Given the description of an element on the screen output the (x, y) to click on. 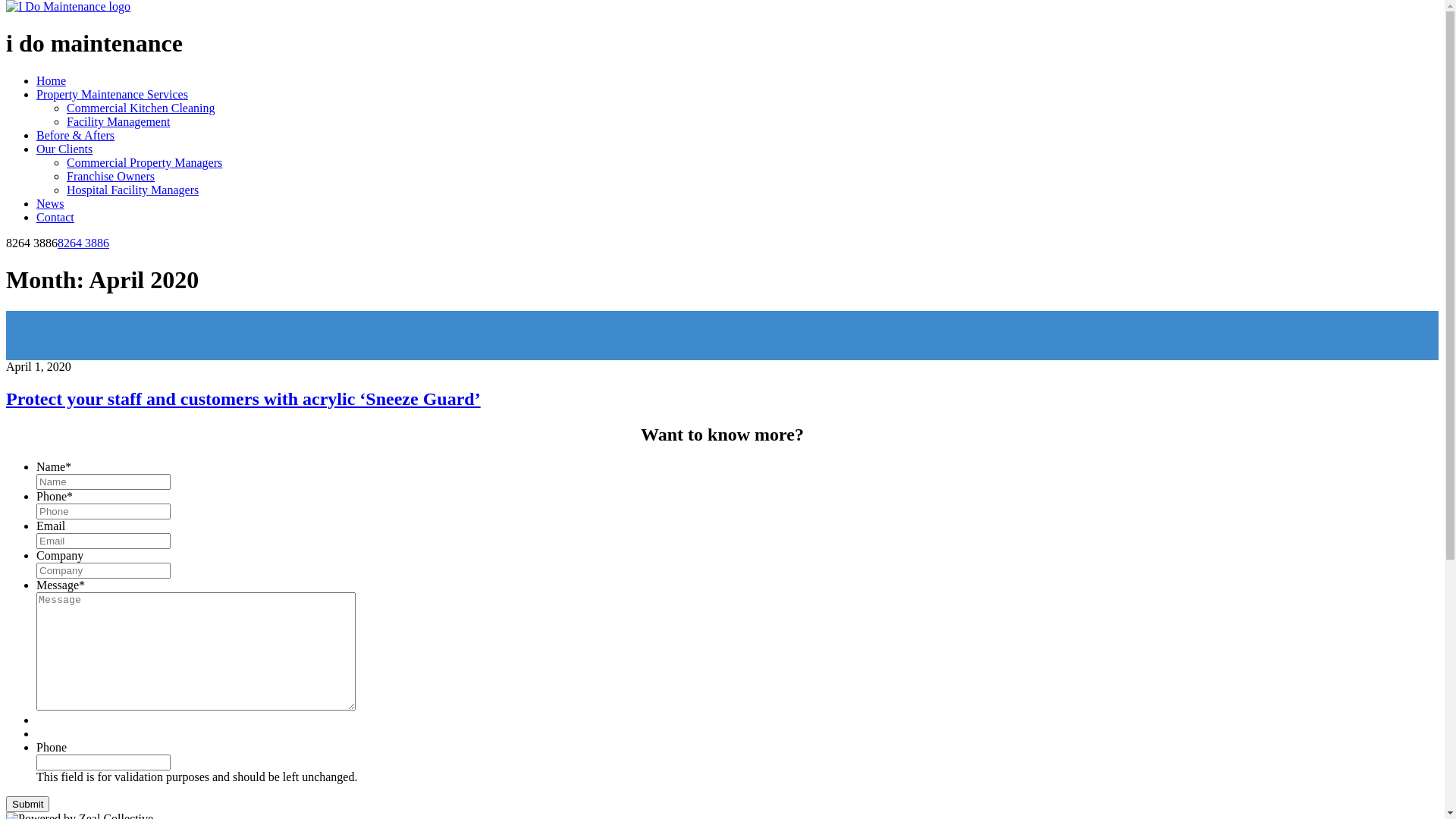
Hospital Facility Managers Element type: text (132, 189)
Commercial Property Managers Element type: text (144, 162)
Contact Element type: text (55, 216)
Property Maintenance Services Element type: text (112, 93)
Our Clients Element type: text (64, 148)
Before & Afters Element type: text (75, 134)
News Element type: text (49, 203)
Home Element type: hover (68, 6)
Submit Element type: text (27, 804)
Facility Management Element type: text (117, 121)
Commercial Kitchen Cleaning Element type: text (140, 107)
8264 3886 Element type: text (83, 242)
Franchise Owners Element type: text (110, 175)
Home Element type: text (50, 80)
